Given the description of an element on the screen output the (x, y) to click on. 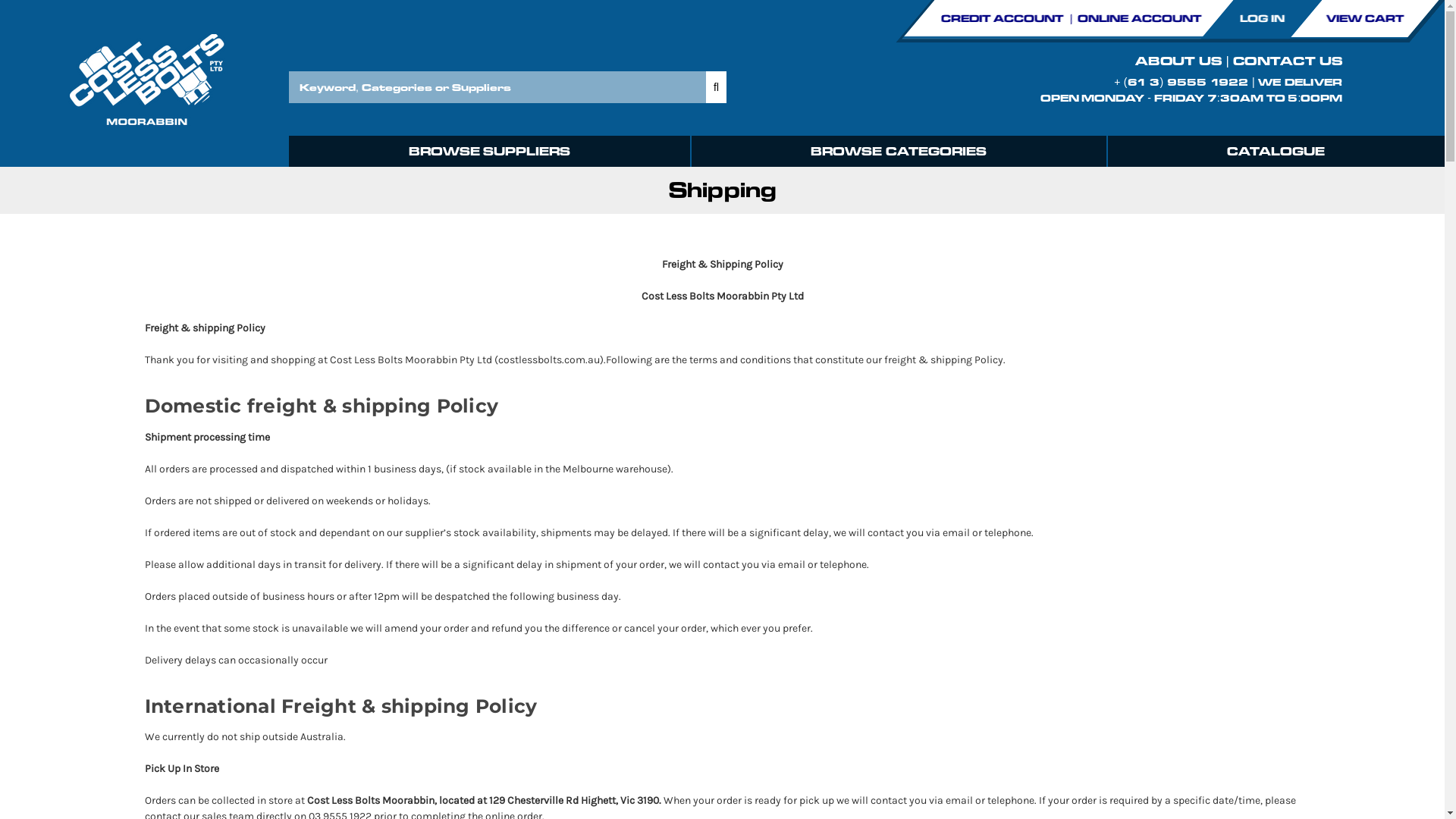
WE DELIVER Element type: text (1300, 81)
BROWSE SUPPLIERS Element type: text (489, 151)
CATALOGUE Element type: text (1275, 151)
Cost Less Bolts Element type: hover (144, 83)
+ (61 3) 9555 1922 Element type: text (1180, 81)
CONTACT US Element type: text (1287, 60)
ONLINE ACCOUNT Element type: text (1139, 18)
LOG IN Element type: text (1262, 18)
BROWSE CATEGORIES Element type: text (897, 151)
ABOUT US Element type: text (1178, 60)
VIEW CART Element type: text (1364, 18)
CREDIT ACCOUNT Element type: text (1001, 18)
